Given the description of an element on the screen output the (x, y) to click on. 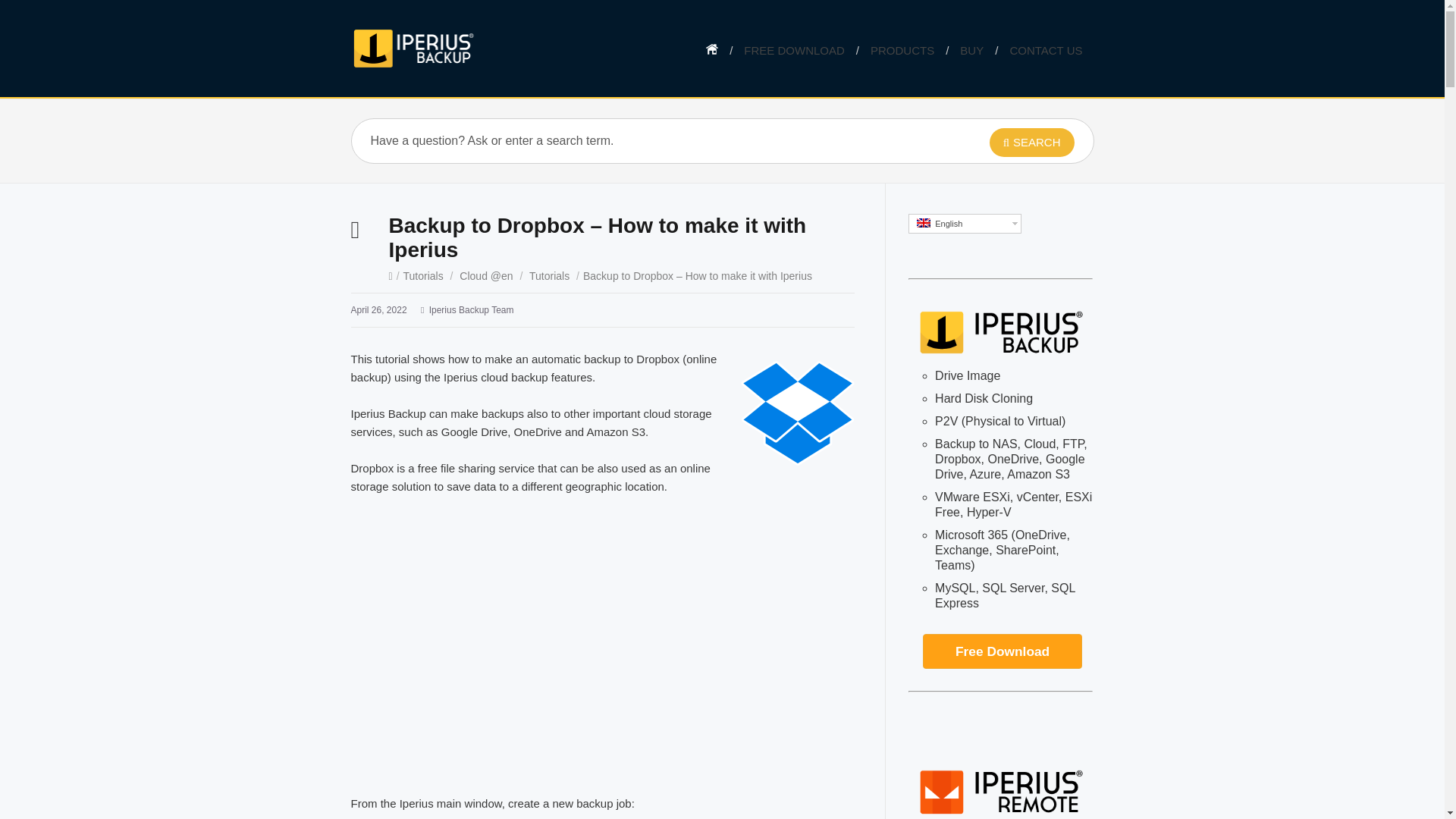
FREE DOWNLOAD (794, 50)
Tutorials (423, 275)
Tutorials (549, 275)
SEARCH (1032, 142)
BUY (971, 50)
Have a question? Ask or enter a search term. (648, 140)
CONTACT US (1045, 50)
PRODUCTS (902, 50)
English (923, 222)
View all posts in Tutorials (549, 275)
